Given the description of an element on the screen output the (x, y) to click on. 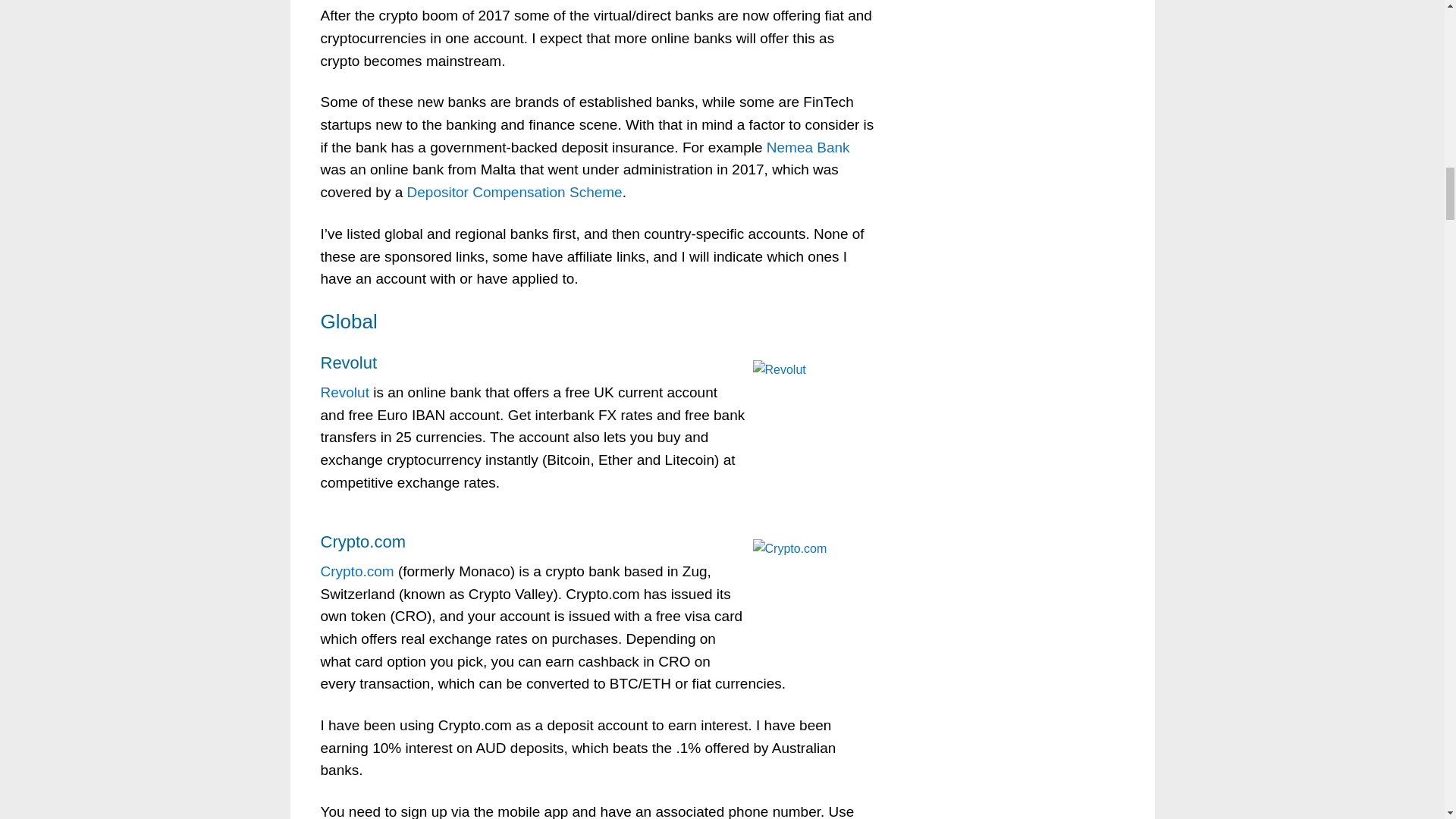
Crypto.com (356, 571)
Depositor Compensation Scheme (515, 191)
Nemea Bank (808, 147)
Revolut (344, 392)
